Given the description of an element on the screen output the (x, y) to click on. 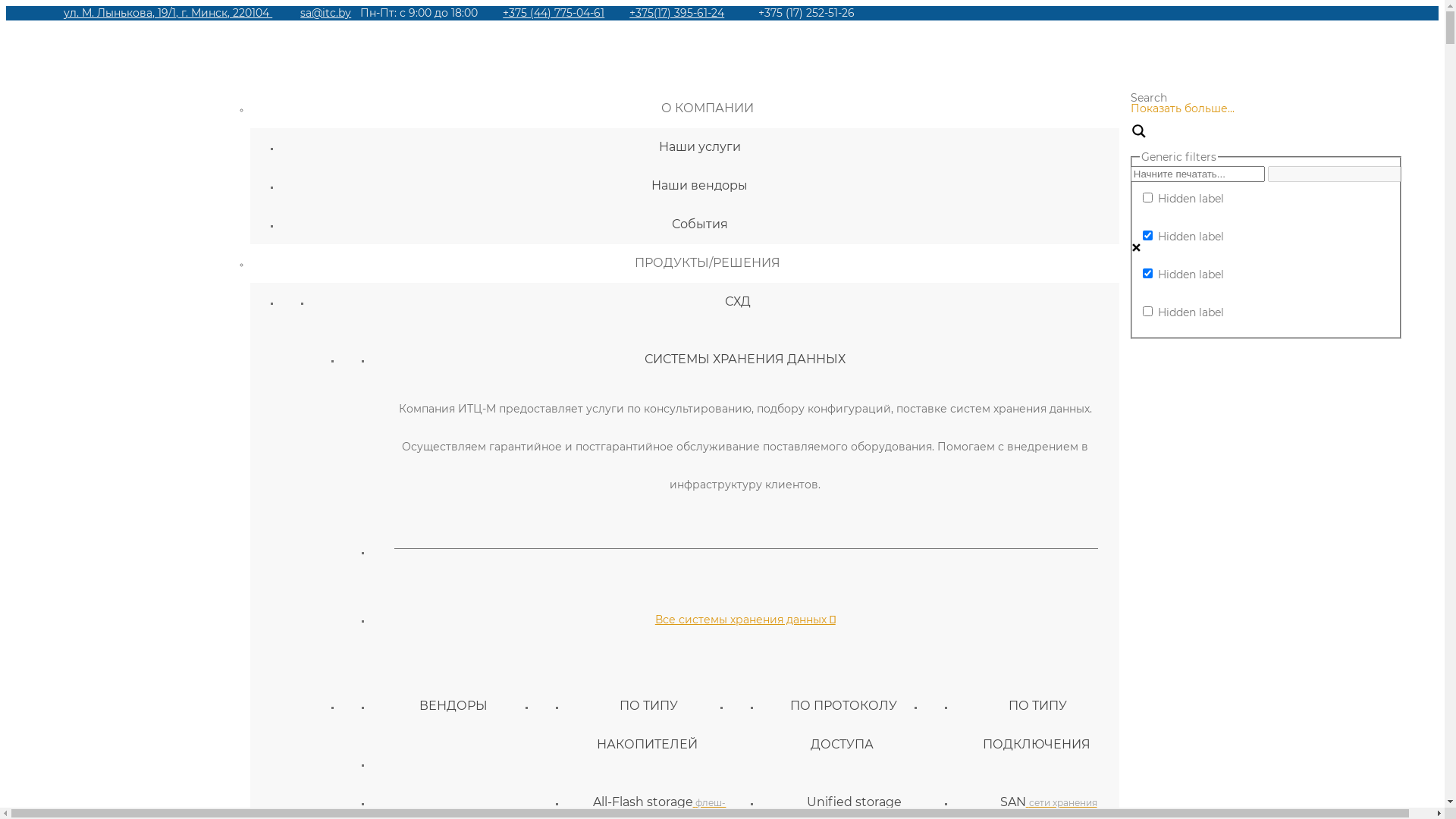
+375 (44) 775-04-61 Element type: text (553, 12)
sa@itc.by Element type: text (325, 12)
+375(17) 395-61-24 Element type: text (676, 12)
